Given the description of an element on the screen output the (x, y) to click on. 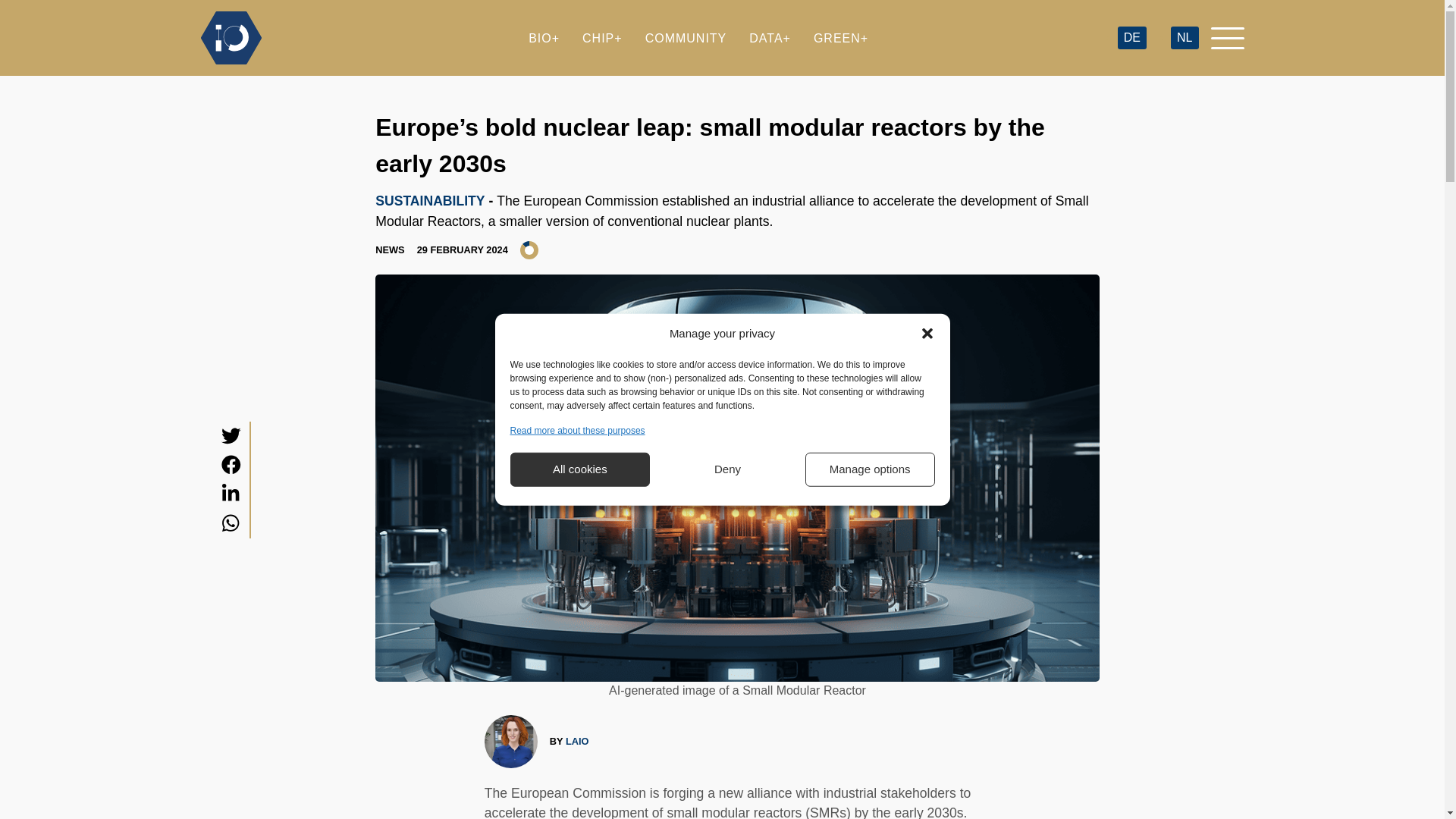
Deny (727, 469)
COMMUNITY (685, 38)
All cookies (579, 469)
NL (1184, 37)
Share on Facebook (231, 464)
Tweet this (231, 435)
Read more about these purposes (577, 429)
Manage options (869, 469)
DE (1132, 37)
